Given the description of an element on the screen output the (x, y) to click on. 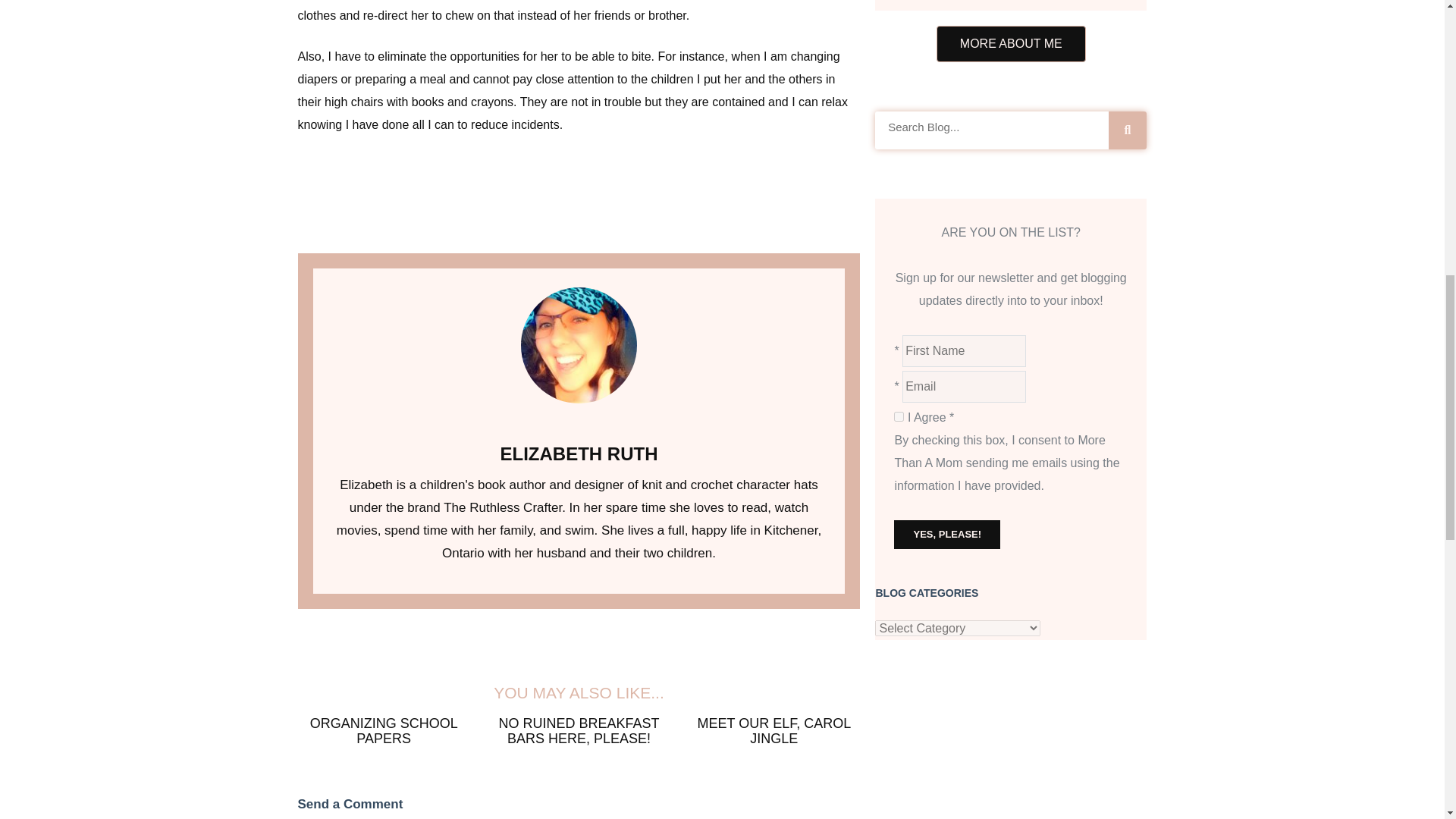
Yes, Please! (946, 534)
